Given the description of an element on the screen output the (x, y) to click on. 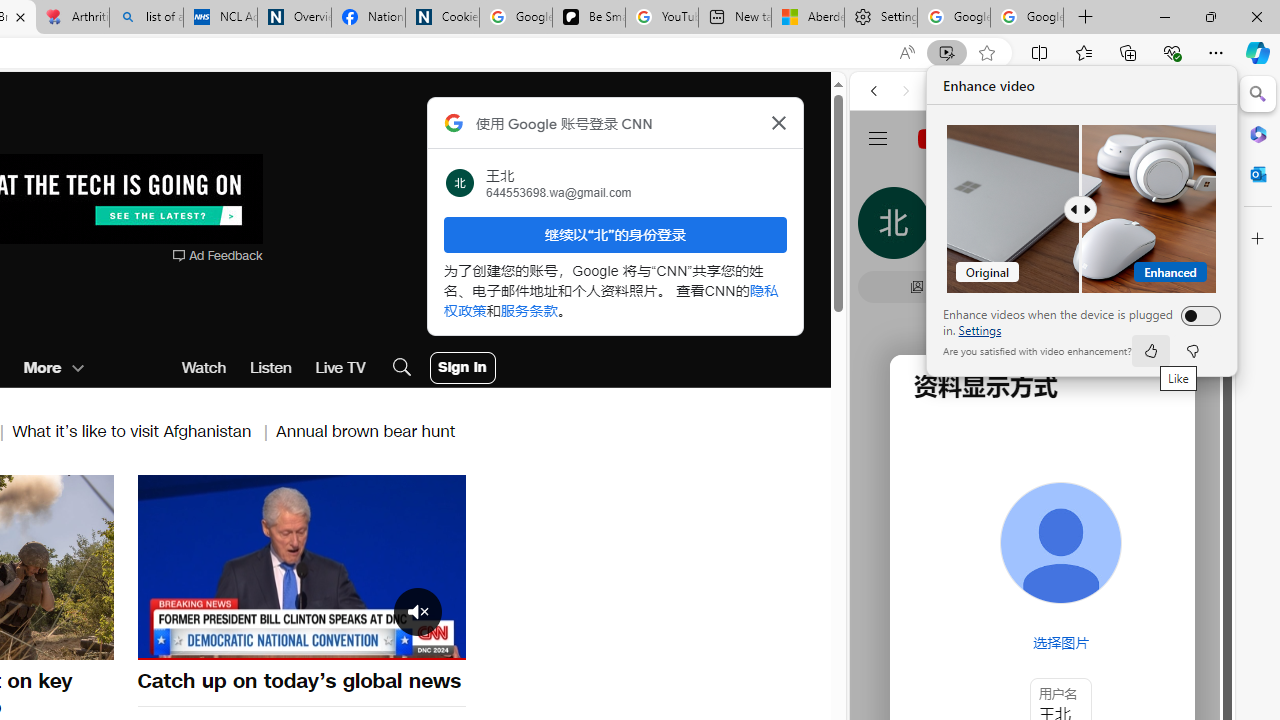
Options (394, 642)
Annual brown bear hunt (365, 430)
Cookies (441, 17)
Search Filter, WEB (882, 228)
Captions Unavailable (350, 642)
#you (1042, 445)
Captions Unavailable (350, 642)
WEB   (882, 228)
list of asthma inhalers uk - Search (146, 17)
